Given the description of an element on the screen output the (x, y) to click on. 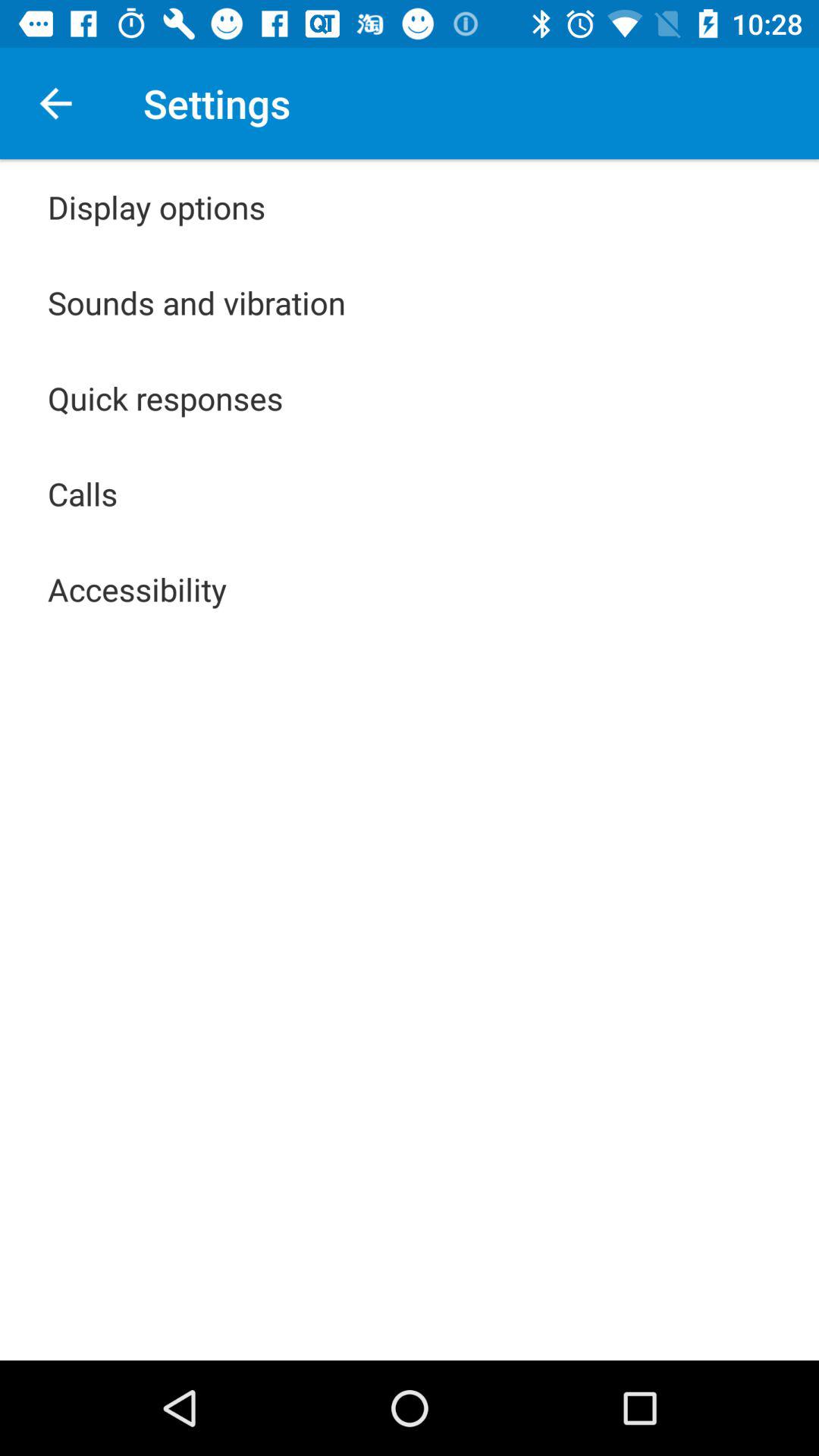
turn off the icon next to the settings icon (55, 103)
